Given the description of an element on the screen output the (x, y) to click on. 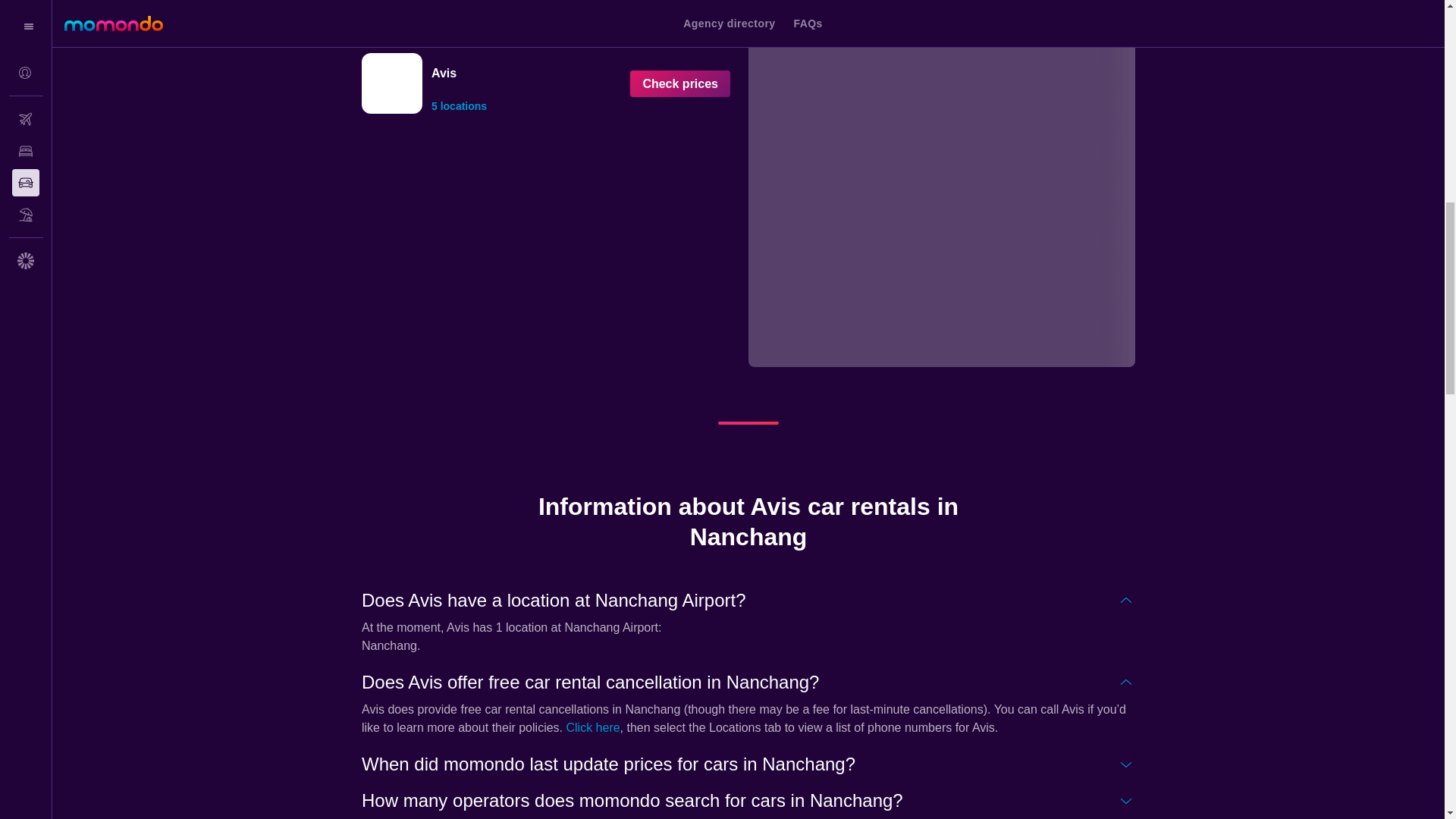
Overview (396, 17)
Locations (536, 17)
Check prices (680, 83)
Reviews (465, 16)
Click here (593, 727)
